Given the description of an element on the screen output the (x, y) to click on. 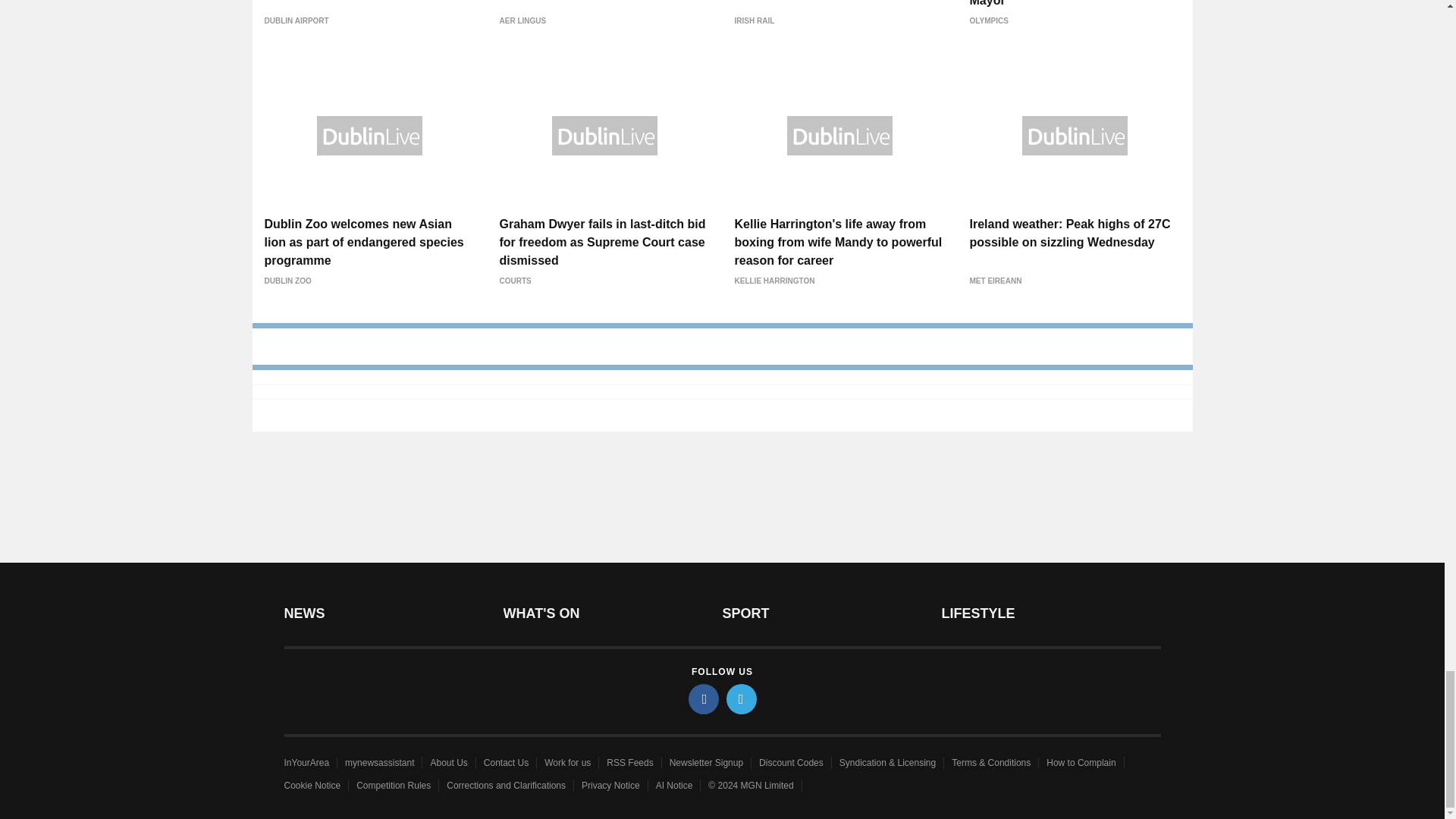
twitter (741, 698)
facebook (703, 698)
